Given the description of an element on the screen output the (x, y) to click on. 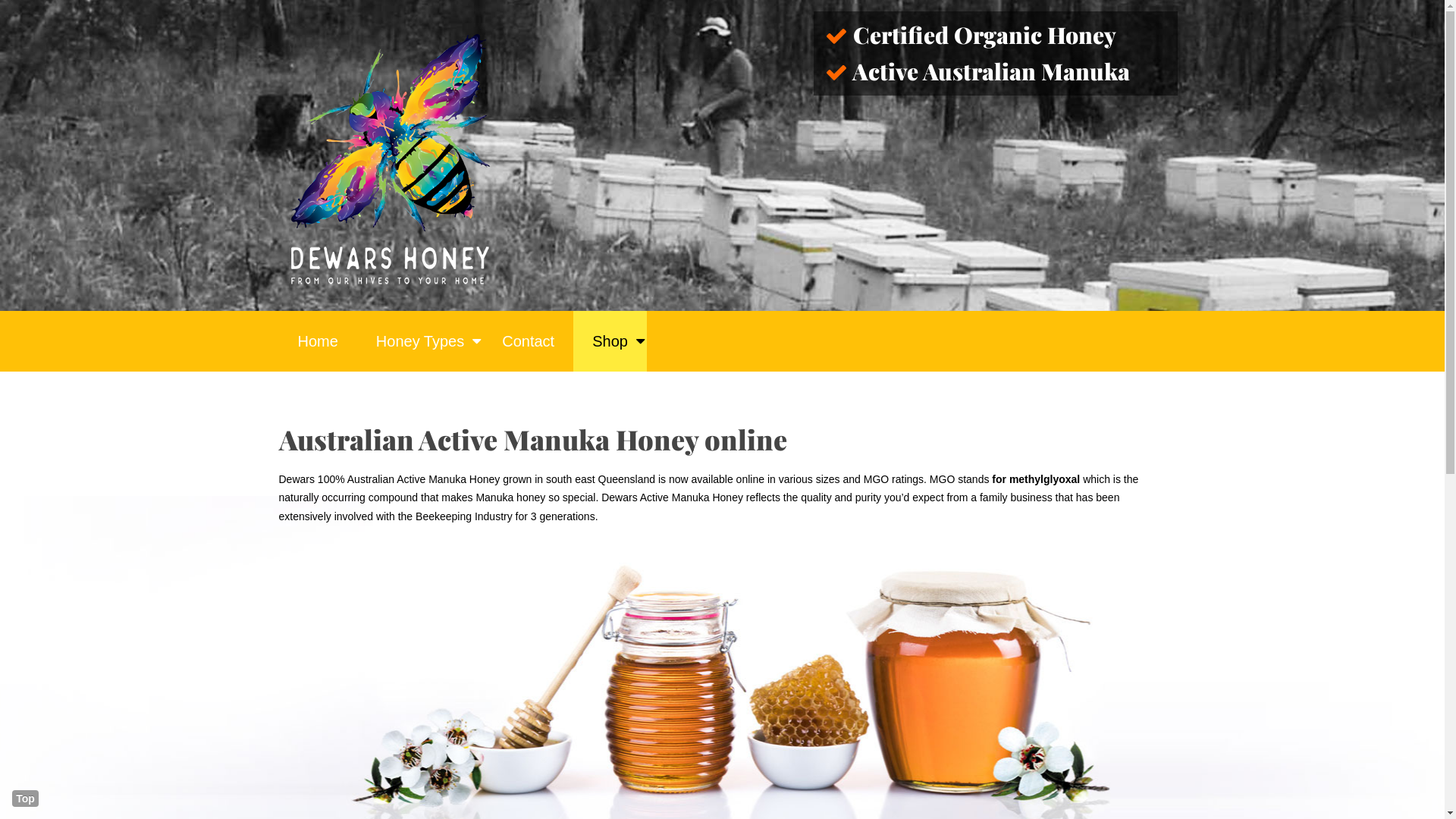
Dewars Honey Element type: hover (390, 154)
Shop Element type: text (609, 340)
Home Element type: text (318, 340)
Top Element type: text (25, 798)
Honey Types Element type: text (420, 340)
Contact Element type: text (528, 340)
